Given the description of an element on the screen output the (x, y) to click on. 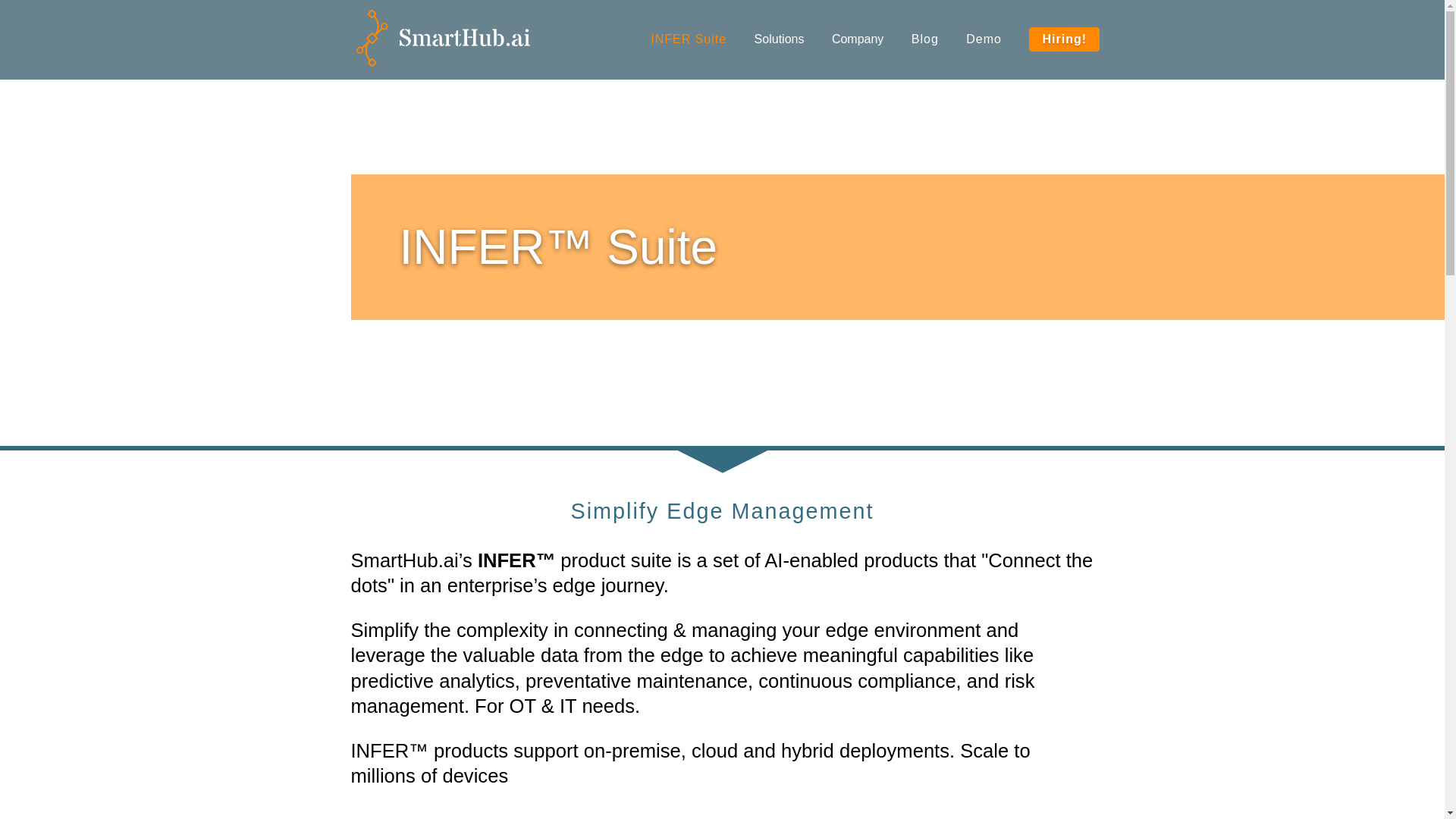
Blog (925, 38)
Demo (983, 38)
INFER Suite (688, 38)
Hiring! (1064, 39)
